Given the description of an element on the screen output the (x, y) to click on. 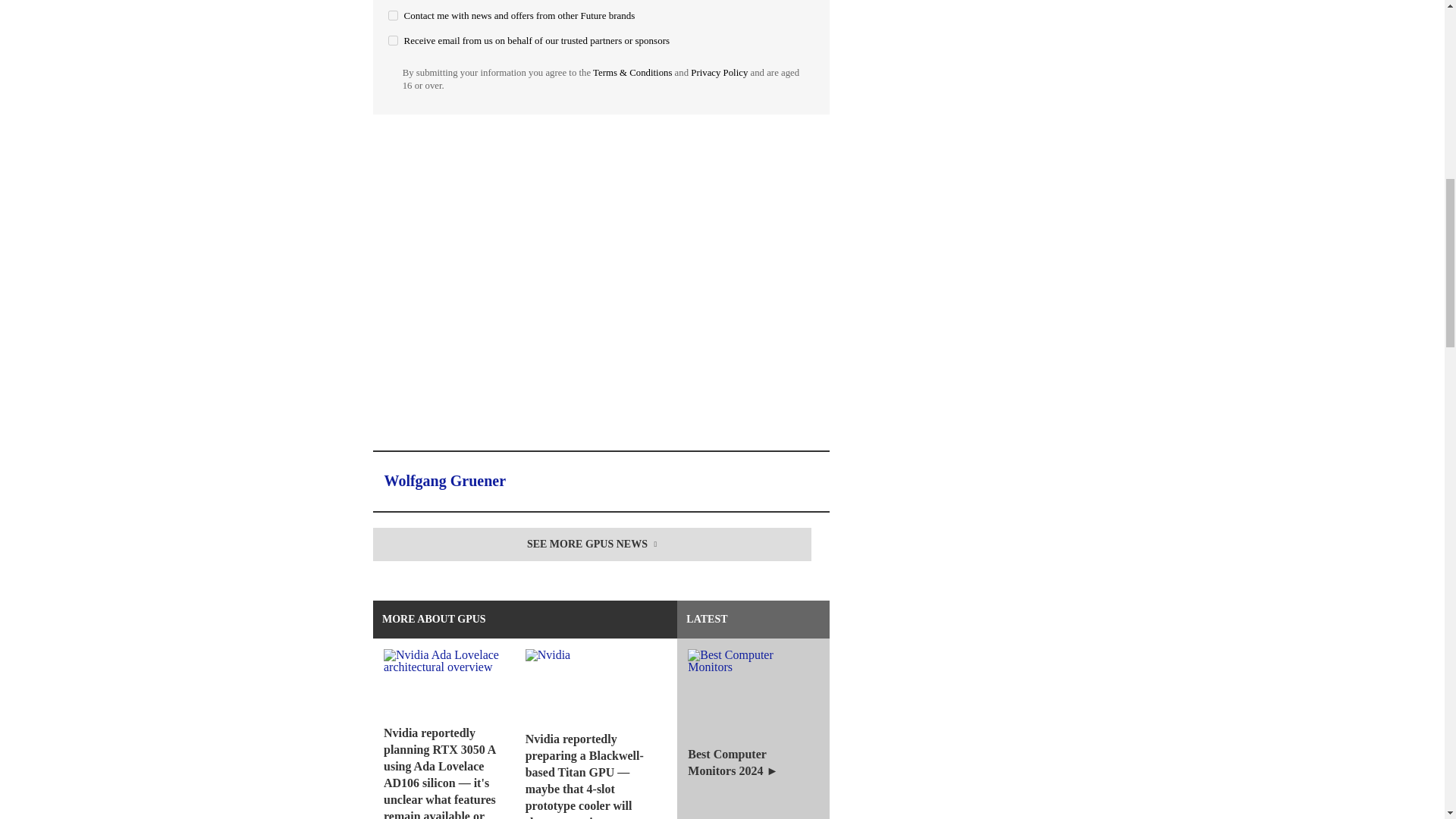
on (392, 15)
on (392, 40)
